Given the description of an element on the screen output the (x, y) to click on. 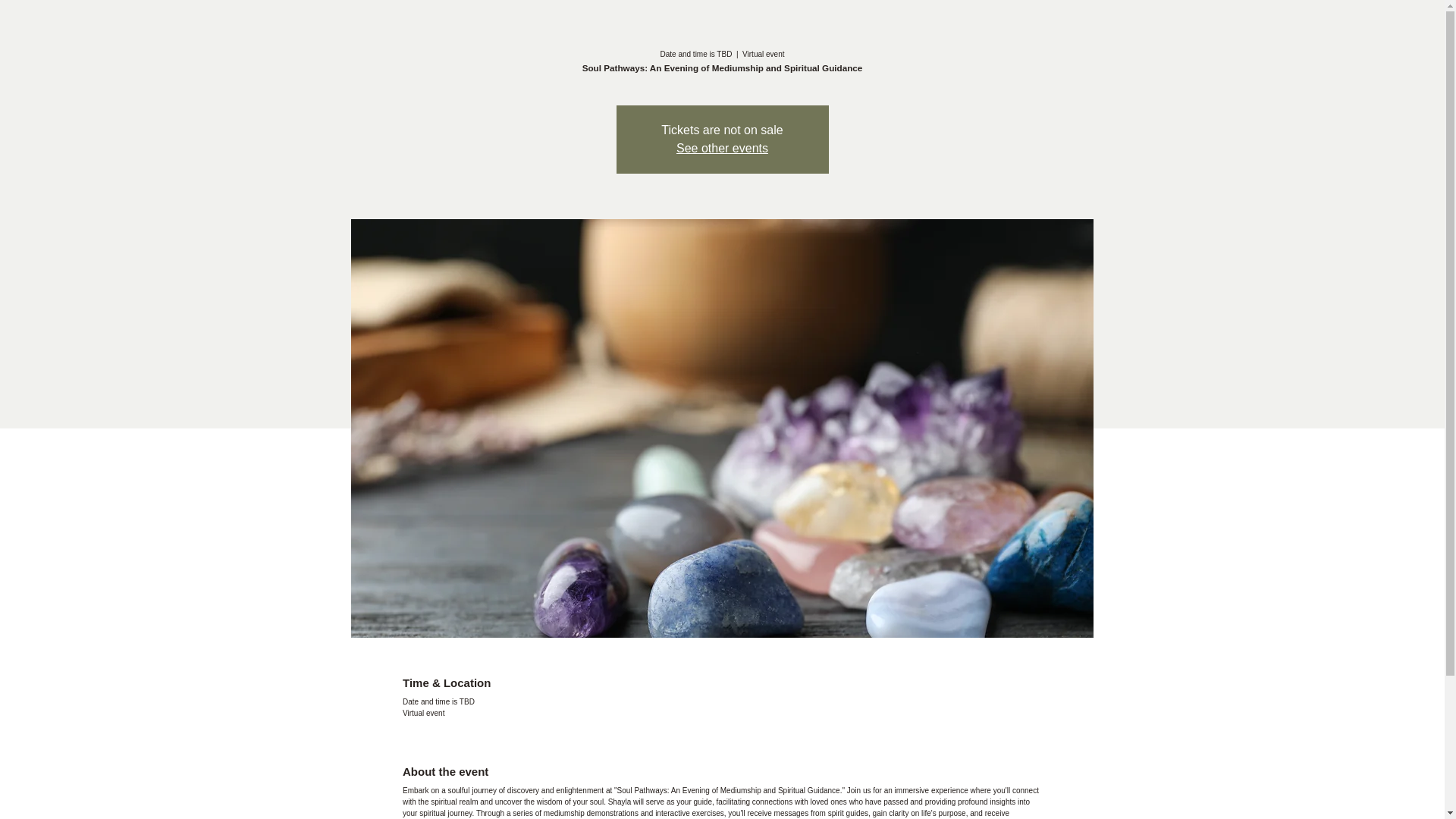
See other events (722, 147)
